Given the description of an element on the screen output the (x, y) to click on. 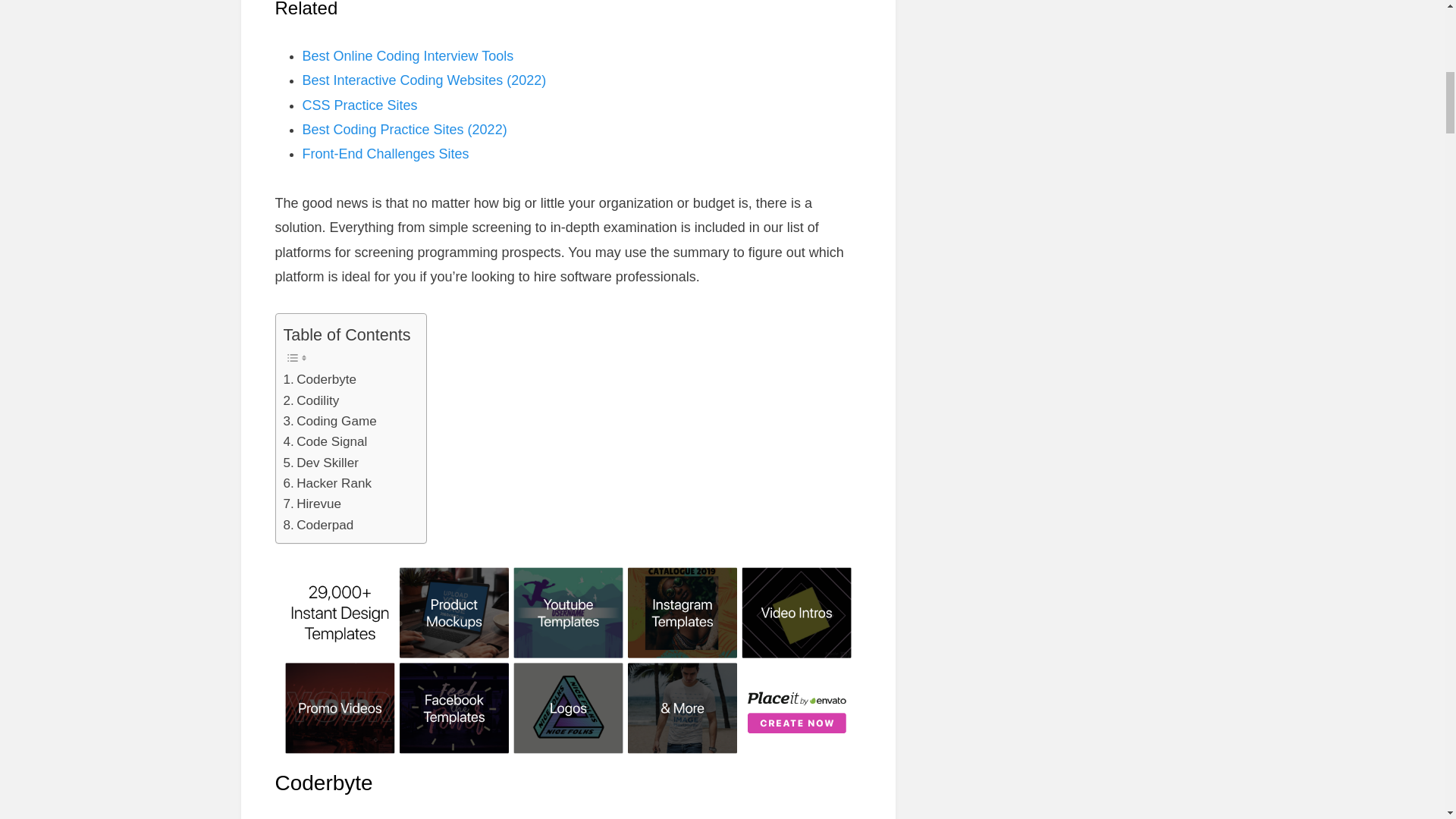
Hirevue (312, 503)
Best Online Coding Interview Tools (407, 55)
Coderbyte (319, 379)
Code Signal (325, 441)
Hirevue (312, 503)
Hacker Rank (327, 483)
CSS Practice Sites (358, 105)
Hacker Rank (327, 483)
Dev Skiller (320, 462)
Codility (311, 400)
Coding Game (330, 421)
Front-End Challenges Sites (384, 153)
Dev Skiller (320, 462)
Coderbyte (319, 379)
Code Signal (325, 441)
